Given the description of an element on the screen output the (x, y) to click on. 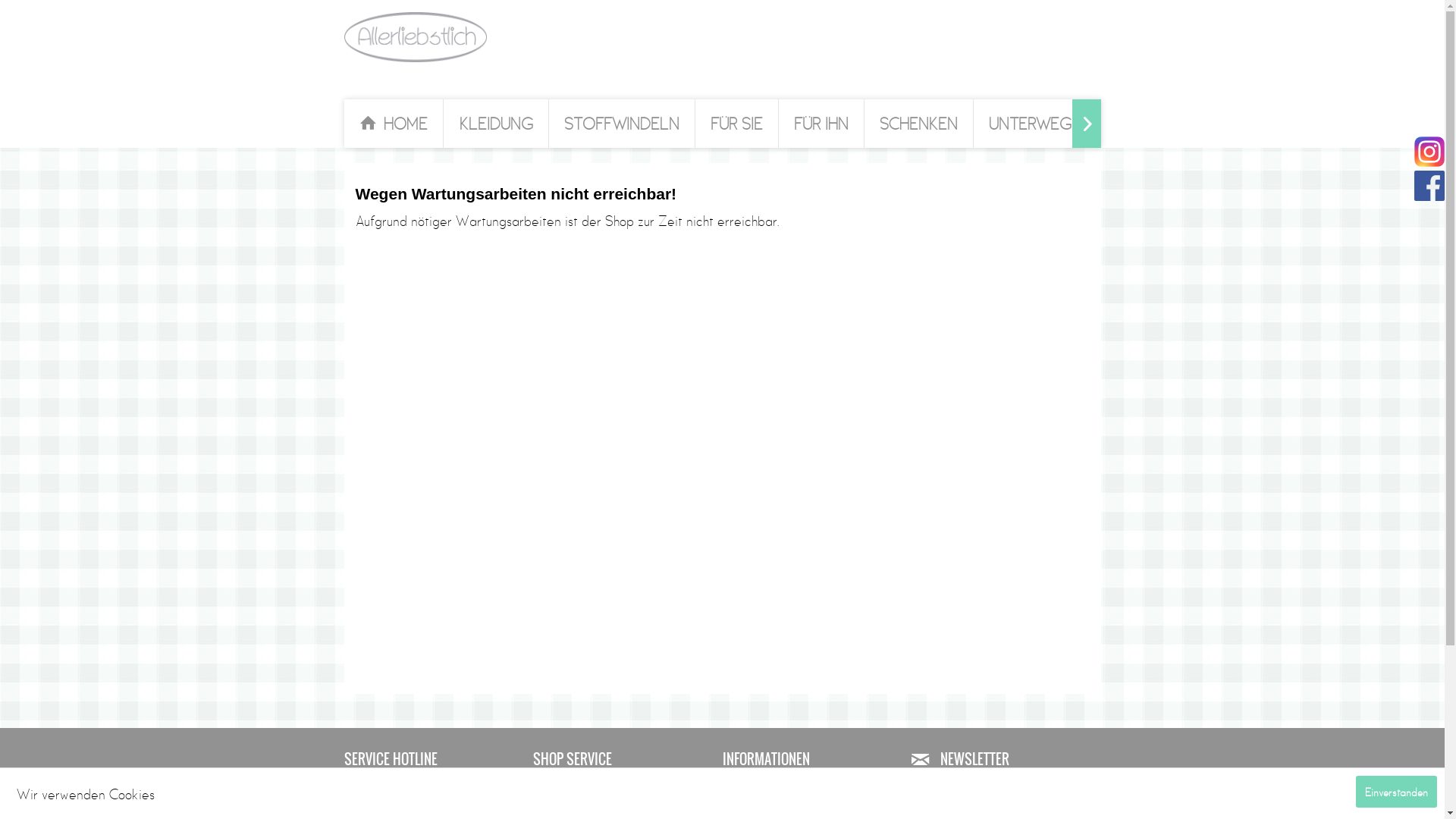
Kontakt Element type: text (624, 783)
Newsletter Element type: text (812, 783)
UNTERWEGS Element type: text (1034, 123)
SALE Element type: text (1130, 123)
Allerliebstlich.ch - zur Startseite wechseln Element type: hover (415, 37)
Versand & Zahlung Element type: text (624, 796)
SCHENKEN Element type: text (918, 123)
Datenschutz Element type: text (812, 810)
STOFFWINDELN Element type: text (621, 123)
Einverstanden Element type: text (1396, 791)
KLEIDUNG Element type: text (496, 123)
HOME Element type: text (393, 123)
AGB Element type: text (624, 810)
